Given the description of an element on the screen output the (x, y) to click on. 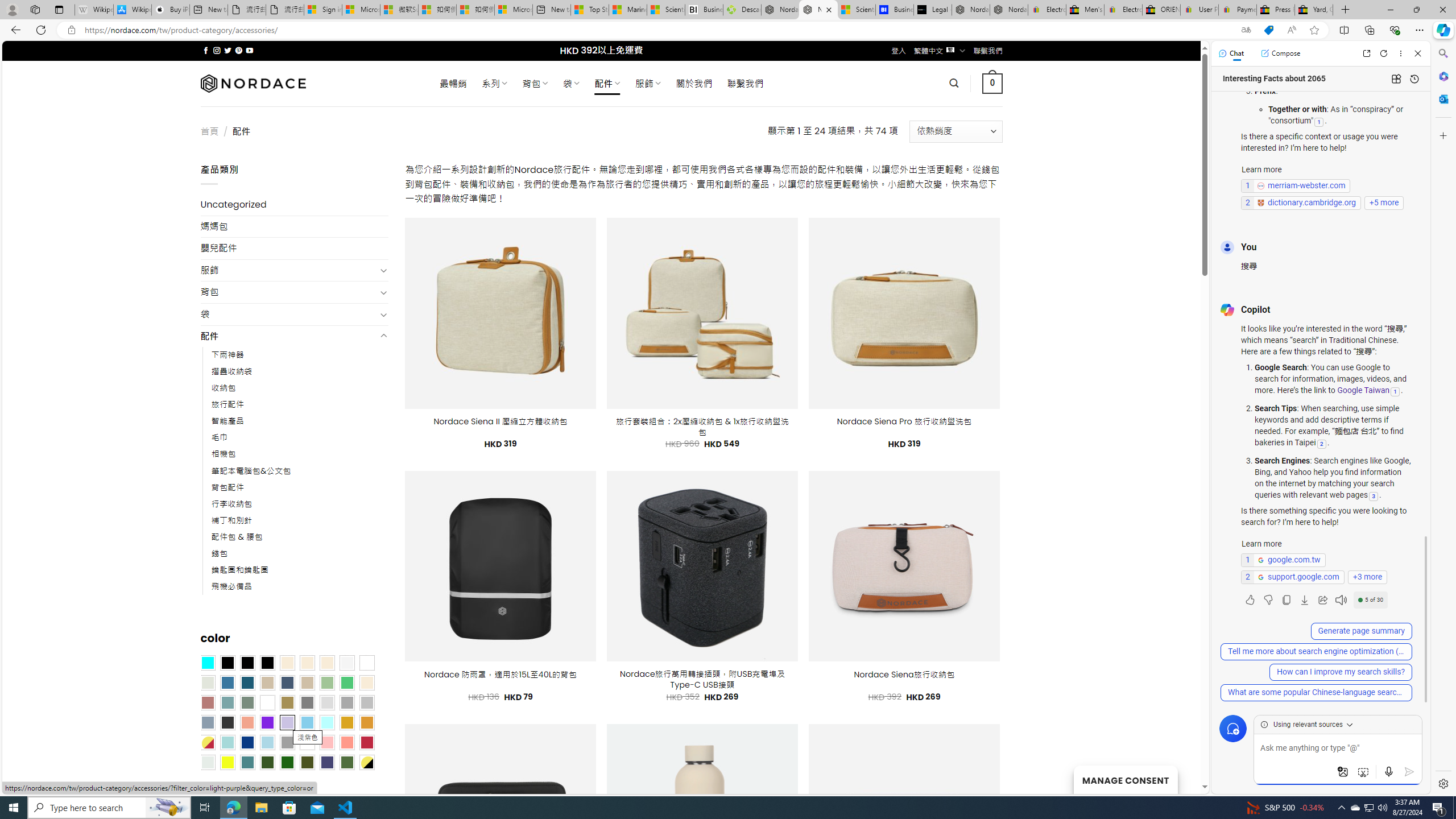
Buy iPad - Apple (171, 9)
